Given the description of an element on the screen output the (x, y) to click on. 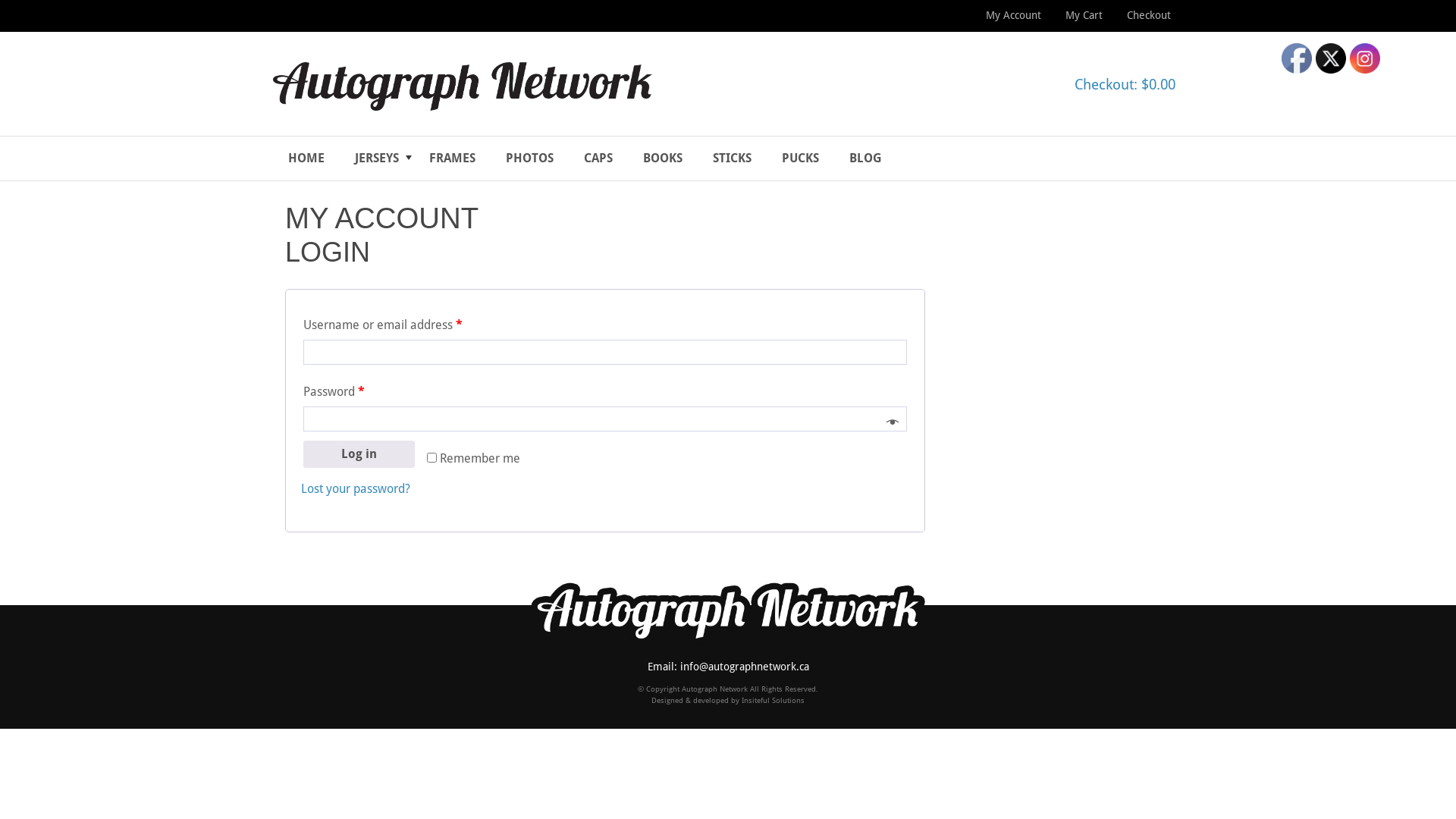
Twitter Element type: hover (1330, 58)
STICKS Element type: text (731, 158)
JERSEYS Element type: text (376, 158)
PUCKS Element type: text (800, 158)
HOME Element type: text (306, 158)
Checkout Element type: text (1148, 15)
CAPS Element type: text (597, 158)
Checkout: $0.00 Element type: text (1124, 85)
info@autographnetwork.ca Element type: text (743, 666)
Lost your password? Element type: text (355, 488)
BOOKS Element type: text (662, 158)
Log in Element type: text (358, 453)
My Account Element type: text (1013, 15)
Facebook Element type: hover (1296, 58)
Instagram Element type: hover (1364, 58)
Insiteful Solutions Element type: text (772, 700)
BLOG Element type: text (865, 158)
My Cart Element type: text (1083, 15)
FRAMES Element type: text (452, 158)
PHOTOS Element type: text (529, 158)
